Given the description of an element on the screen output the (x, y) to click on. 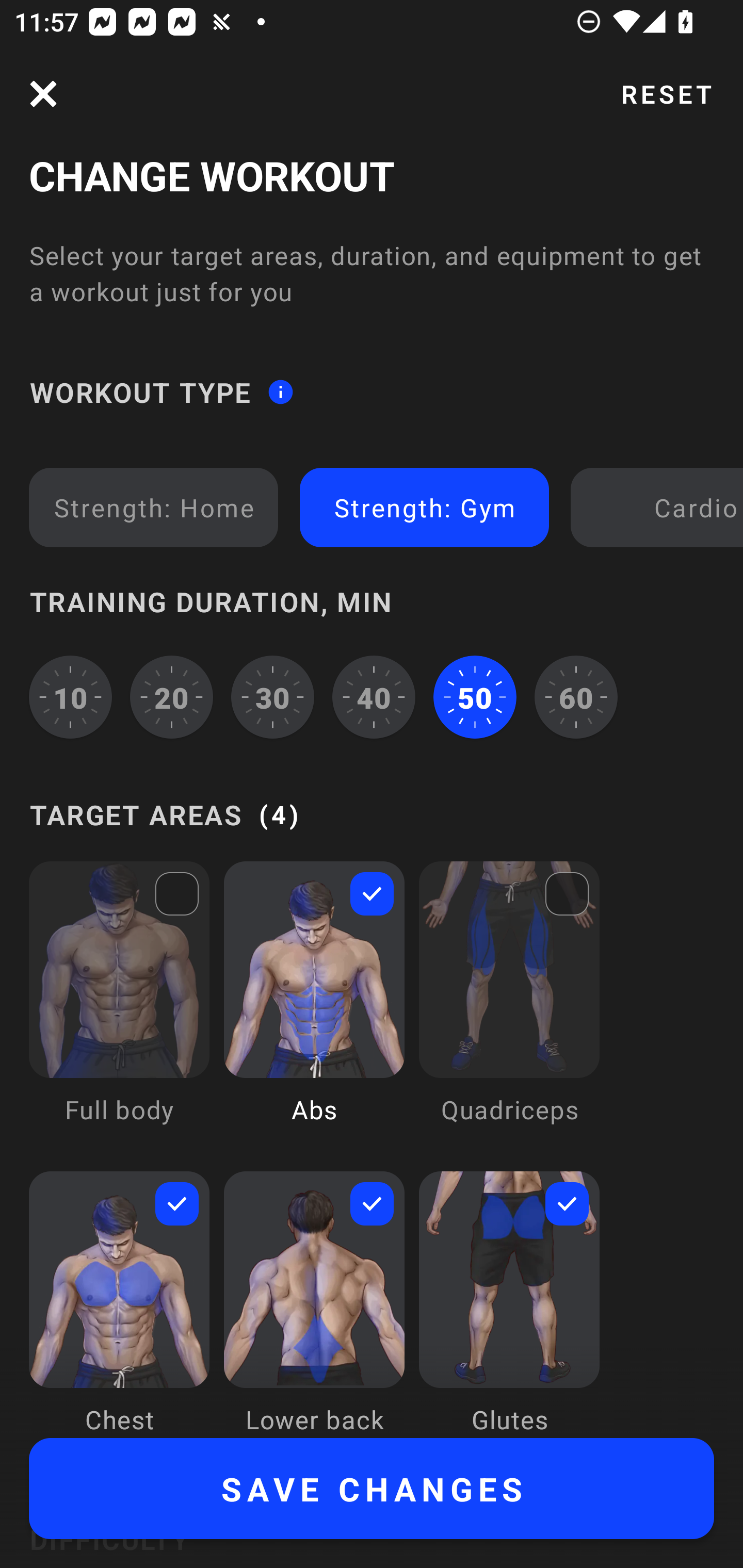
Navigation icon (43, 93)
RESET (666, 93)
Workout type information button (280, 391)
Strength: Home (153, 507)
Cardio (660, 507)
10 (70, 696)
20 (171, 696)
30 (272, 696)
40 (373, 696)
50 (474, 696)
60 (575, 696)
Full body (118, 1007)
Quadriceps (509, 1007)
SAVE CHANGES (371, 1488)
